Given the description of an element on the screen output the (x, y) to click on. 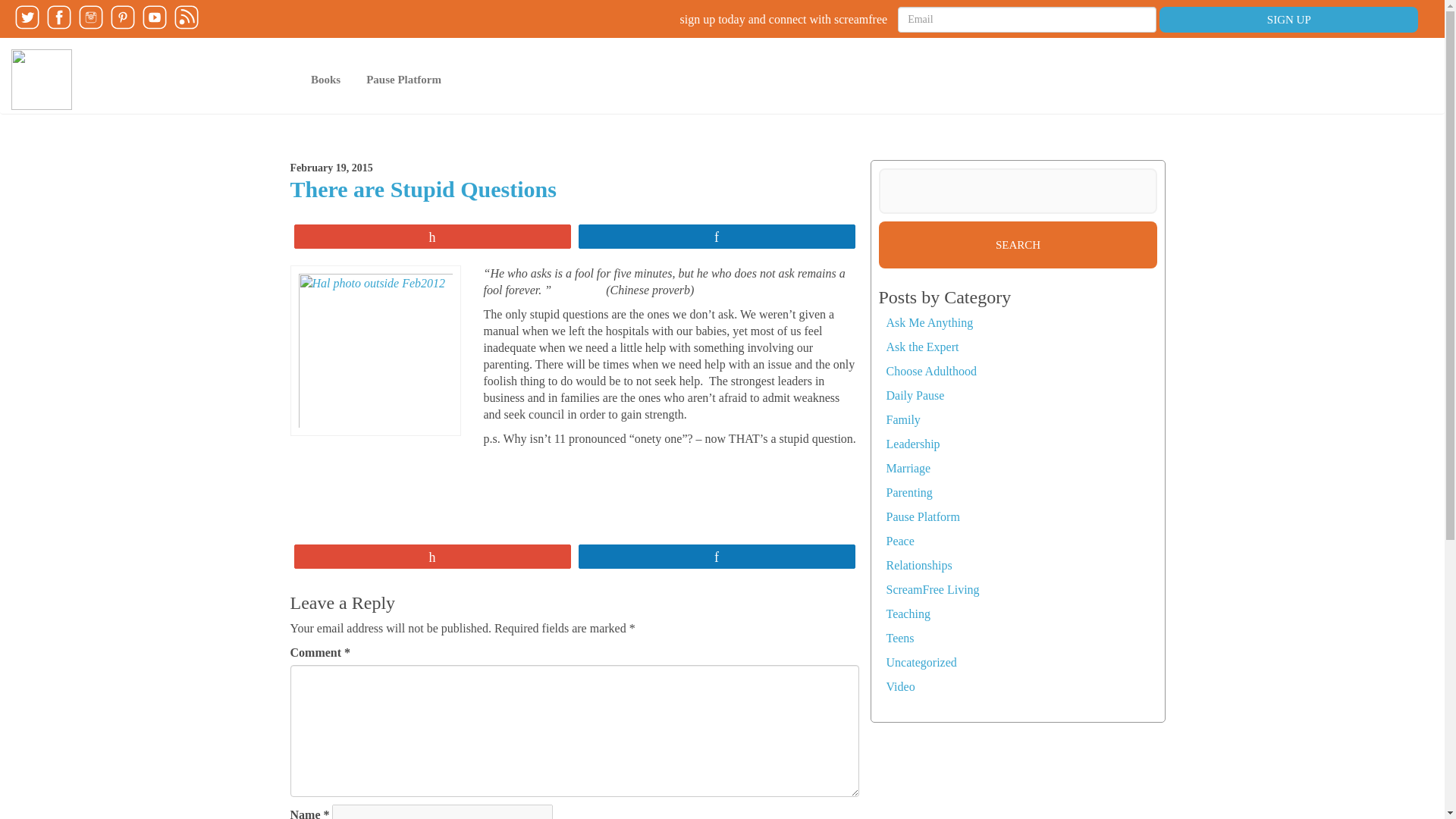
Parenting (908, 492)
Peace (899, 540)
Pause Platform (922, 516)
Books (325, 79)
Teens (899, 637)
Daily Pause (914, 395)
Marriage (907, 468)
Pause Platform (403, 79)
Video (899, 686)
Ask the Expert (921, 346)
